Given the description of an element on the screen output the (x, y) to click on. 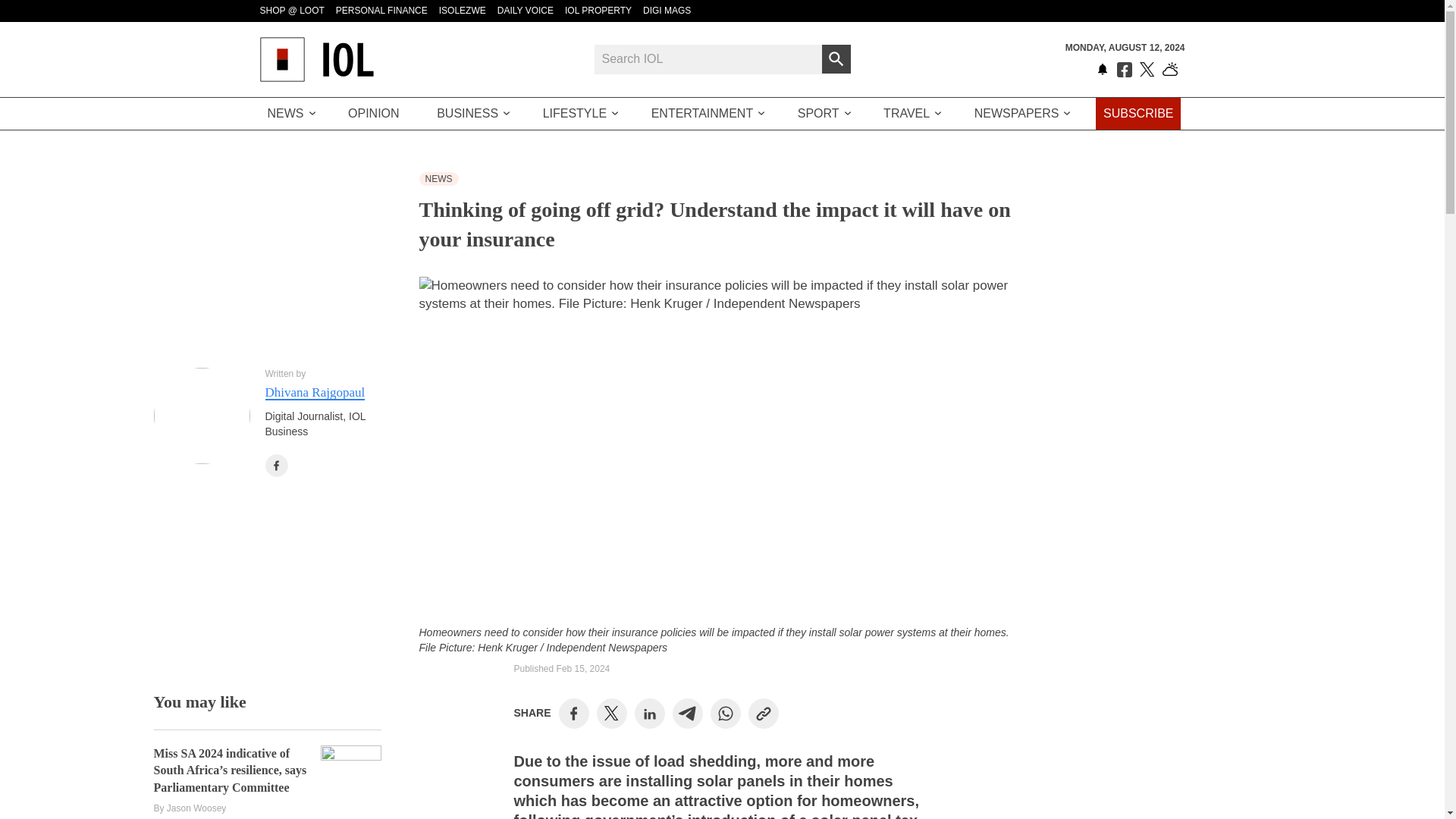
Share on Facebook (573, 713)
Copy to Clipboard (763, 713)
Follow us on Twitter (1147, 69)
Share on LinkedIn (648, 713)
Like us on Facebook (1124, 69)
Share on WhatsApp (725, 713)
Share on Telegram (686, 713)
Share on Twitter (611, 713)
